Given the description of an element on the screen output the (x, y) to click on. 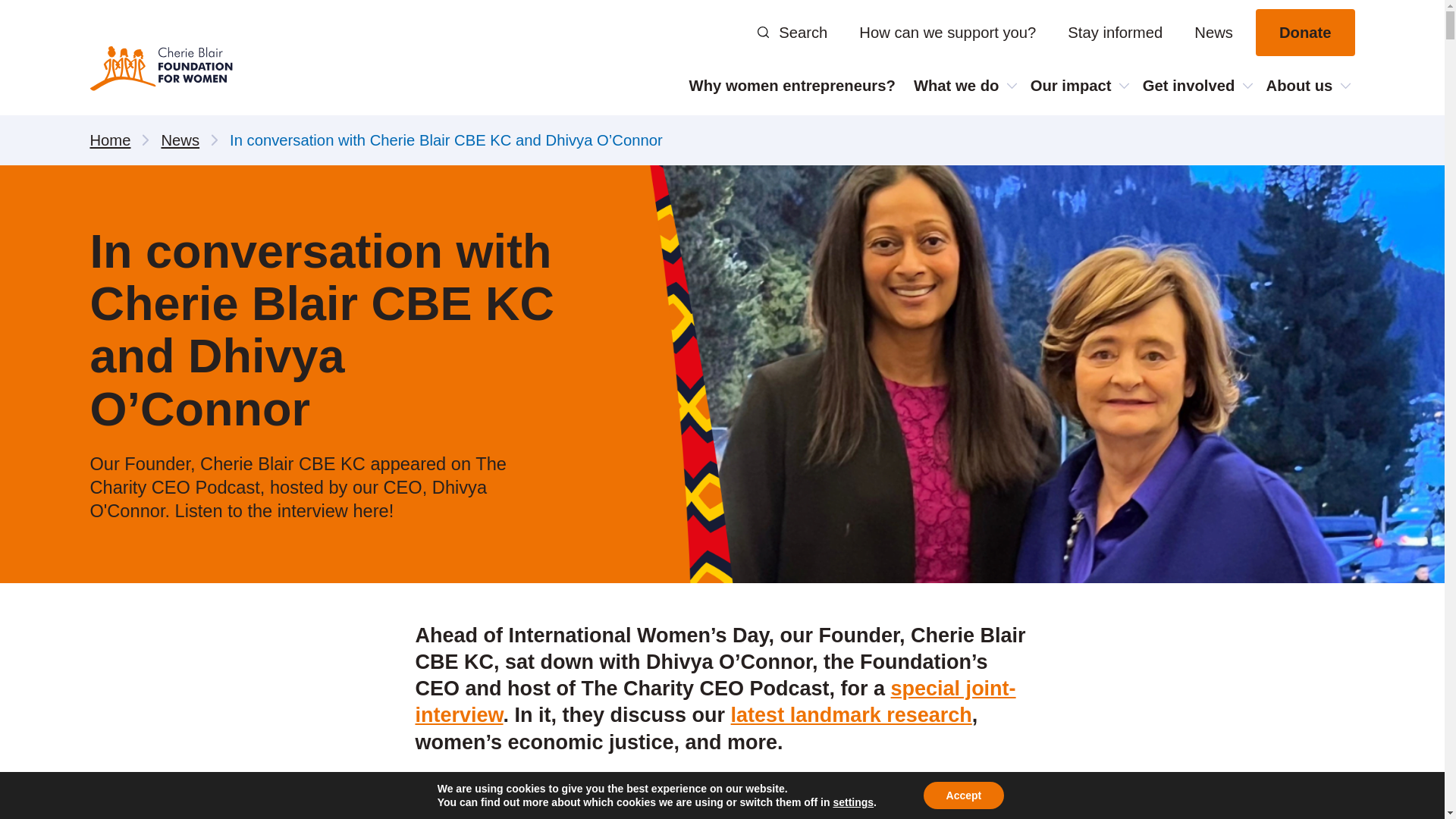
Active projects (1189, 140)
Our impact (1078, 85)
Her stories (1087, 140)
Donate (1305, 32)
News (1213, 32)
News (1320, 140)
How can we support you? (947, 32)
Get involved (1195, 85)
What we do (963, 85)
Why women entrepreneurs? (791, 85)
About us (1306, 85)
Mentoring Women in Business (1189, 152)
Our projects (999, 140)
Search (791, 32)
Stay informed (1115, 32)
